Given the description of an element on the screen output the (x, y) to click on. 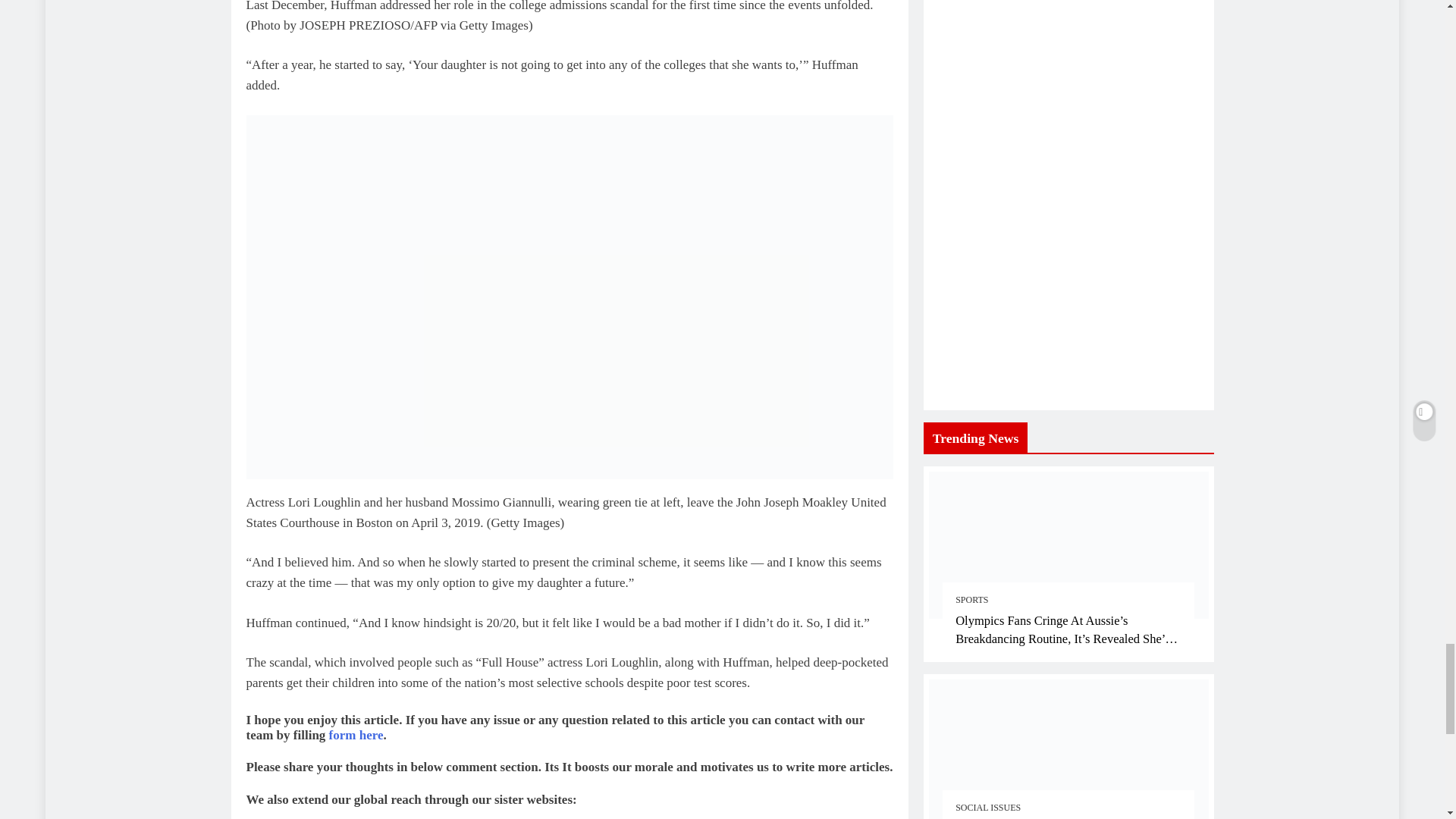
form here (356, 395)
article (314, 611)
